Given the description of an element on the screen output the (x, y) to click on. 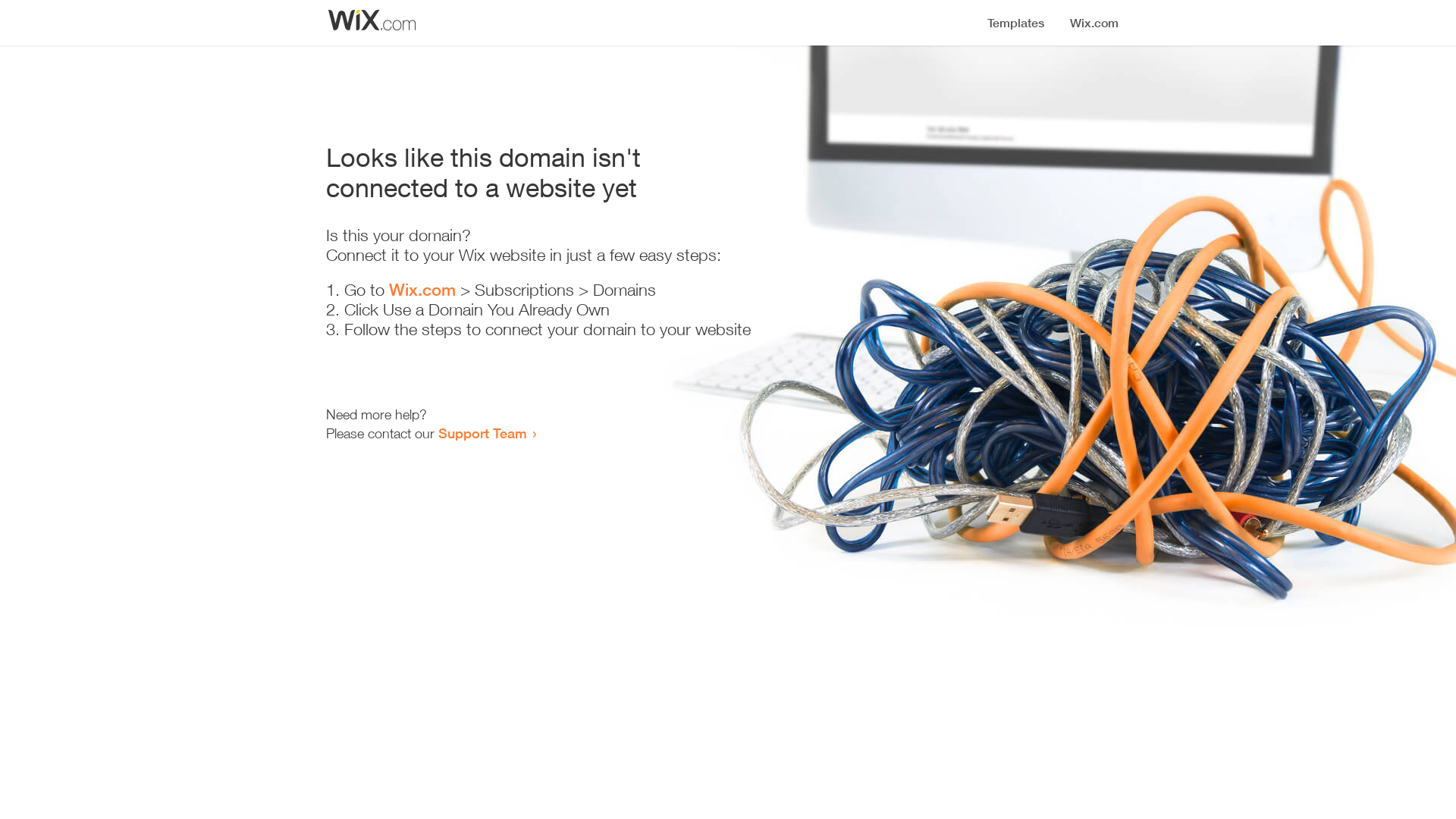
Wix.com Element type: text (422, 289)
Support Team Element type: text (482, 432)
